Given the description of an element on the screen output the (x, y) to click on. 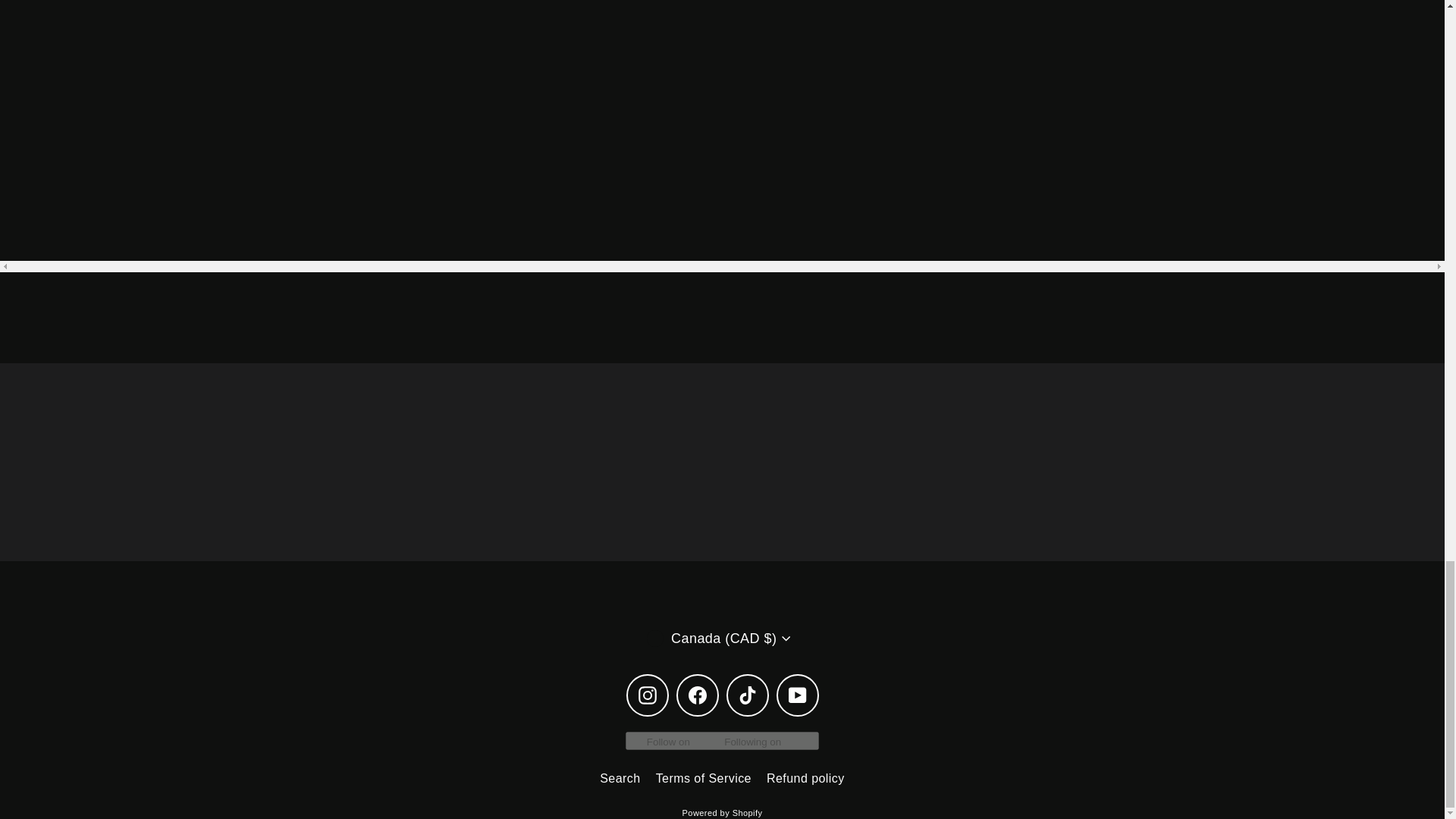
gabescaveccc on YouTube (797, 695)
instagram (647, 695)
gabescaveccc on Instagram (647, 695)
gabescaveccc on TikTok (747, 695)
gabescaveccc on Facebook (698, 695)
